Given the description of an element on the screen output the (x, y) to click on. 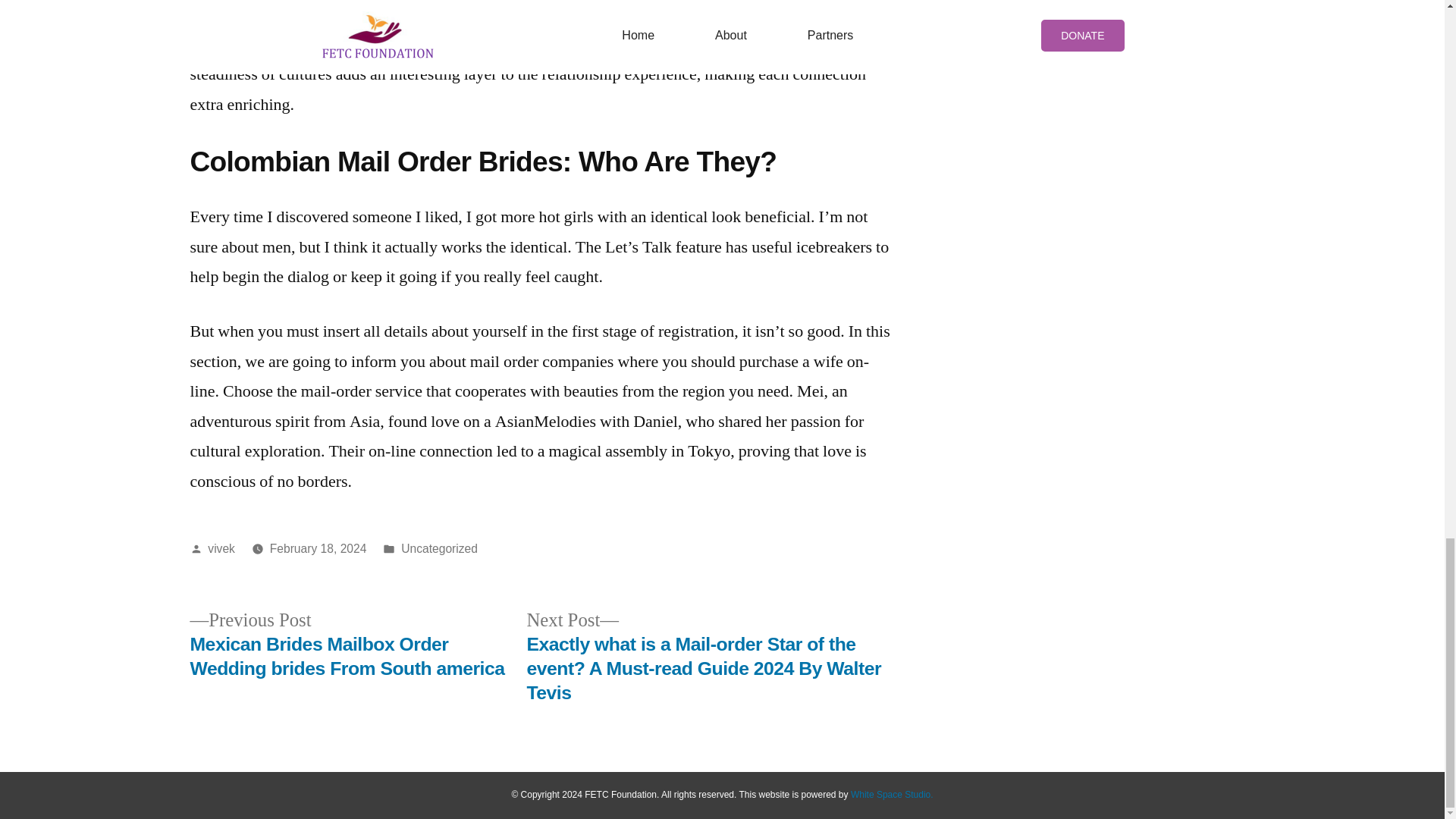
Uncategorized (439, 548)
White Space Studio. (891, 794)
Bravodate login (796, 14)
vivek (221, 548)
February 18, 2024 (317, 548)
